Given the description of an element on the screen output the (x, y) to click on. 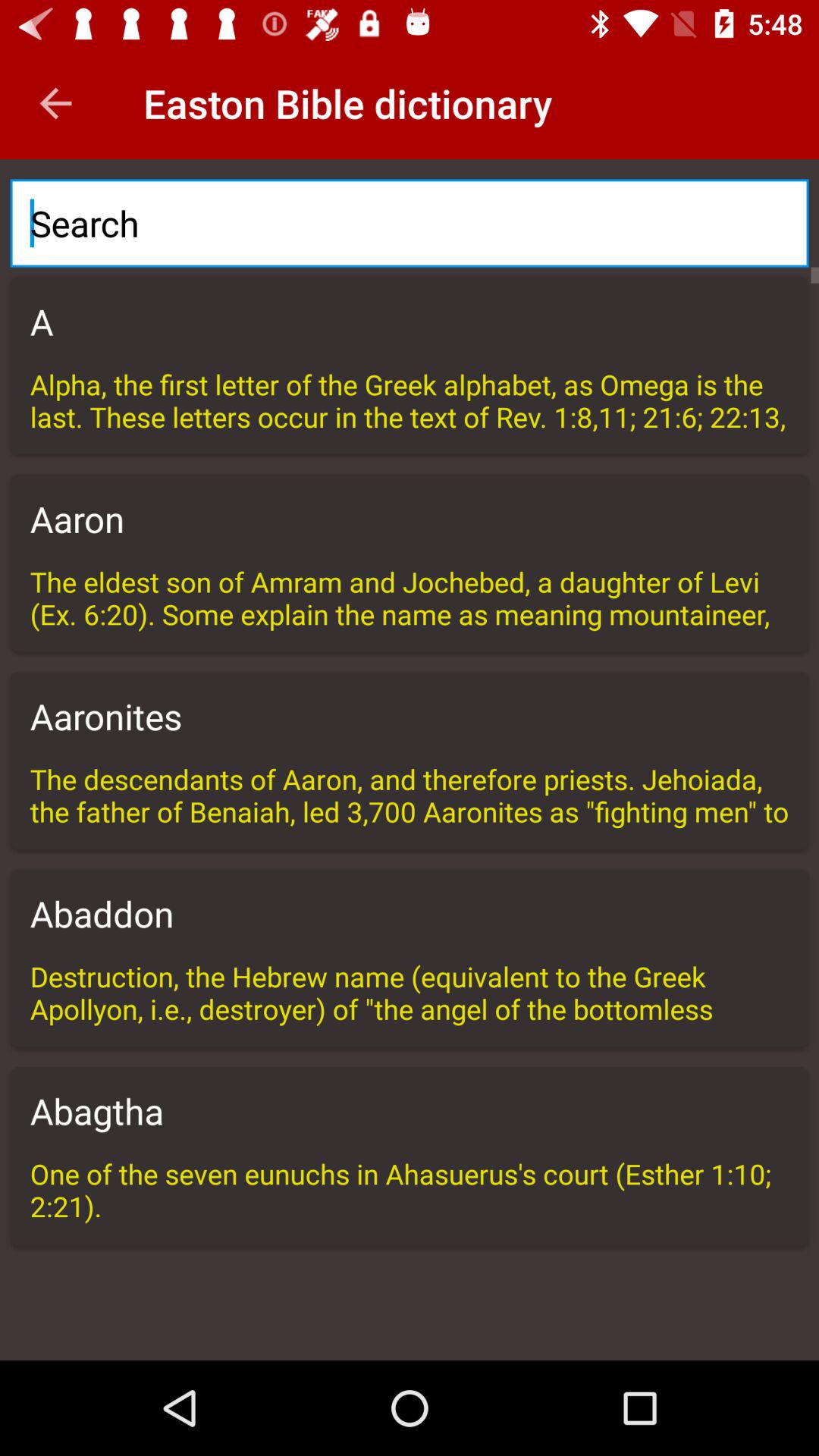
turn on icon at the top left corner (55, 103)
